Given the description of an element on the screen output the (x, y) to click on. 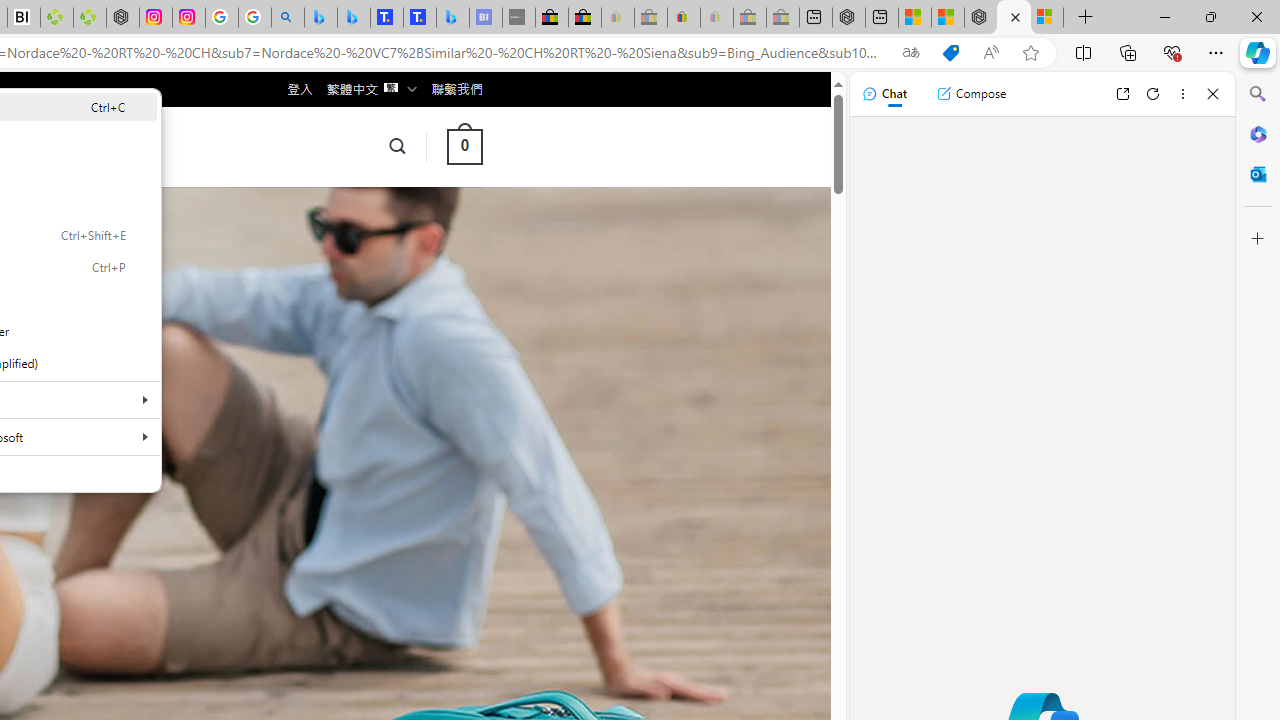
Microsoft Bing Travel - Flights from Hong Kong to Bangkok (320, 17)
  0   (464, 146)
Press Room - eBay Inc. - Sleeping (749, 17)
Microsoft Bing Travel - Shangri-La Hotel Bangkok (452, 17)
